Given the description of an element on the screen output the (x, y) to click on. 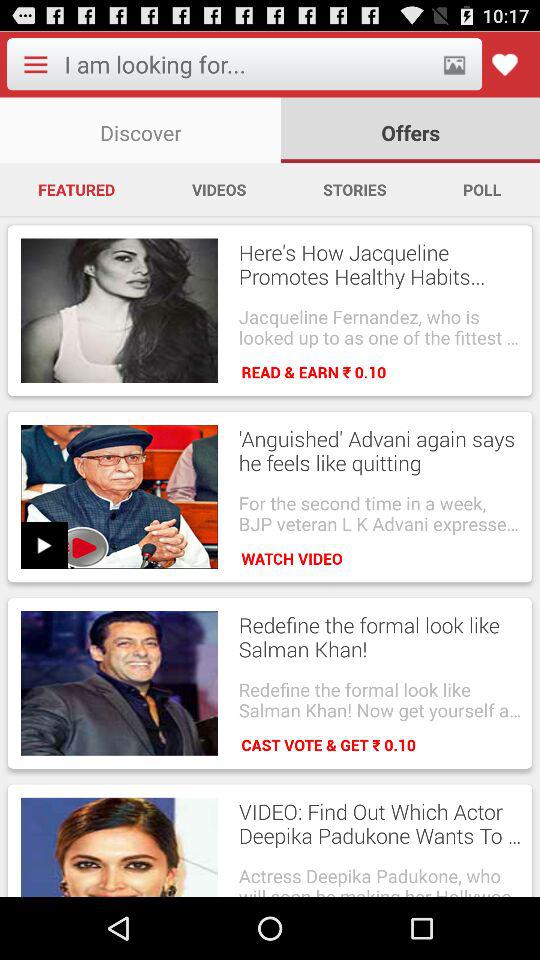
go to menu (35, 64)
